Given the description of an element on the screen output the (x, y) to click on. 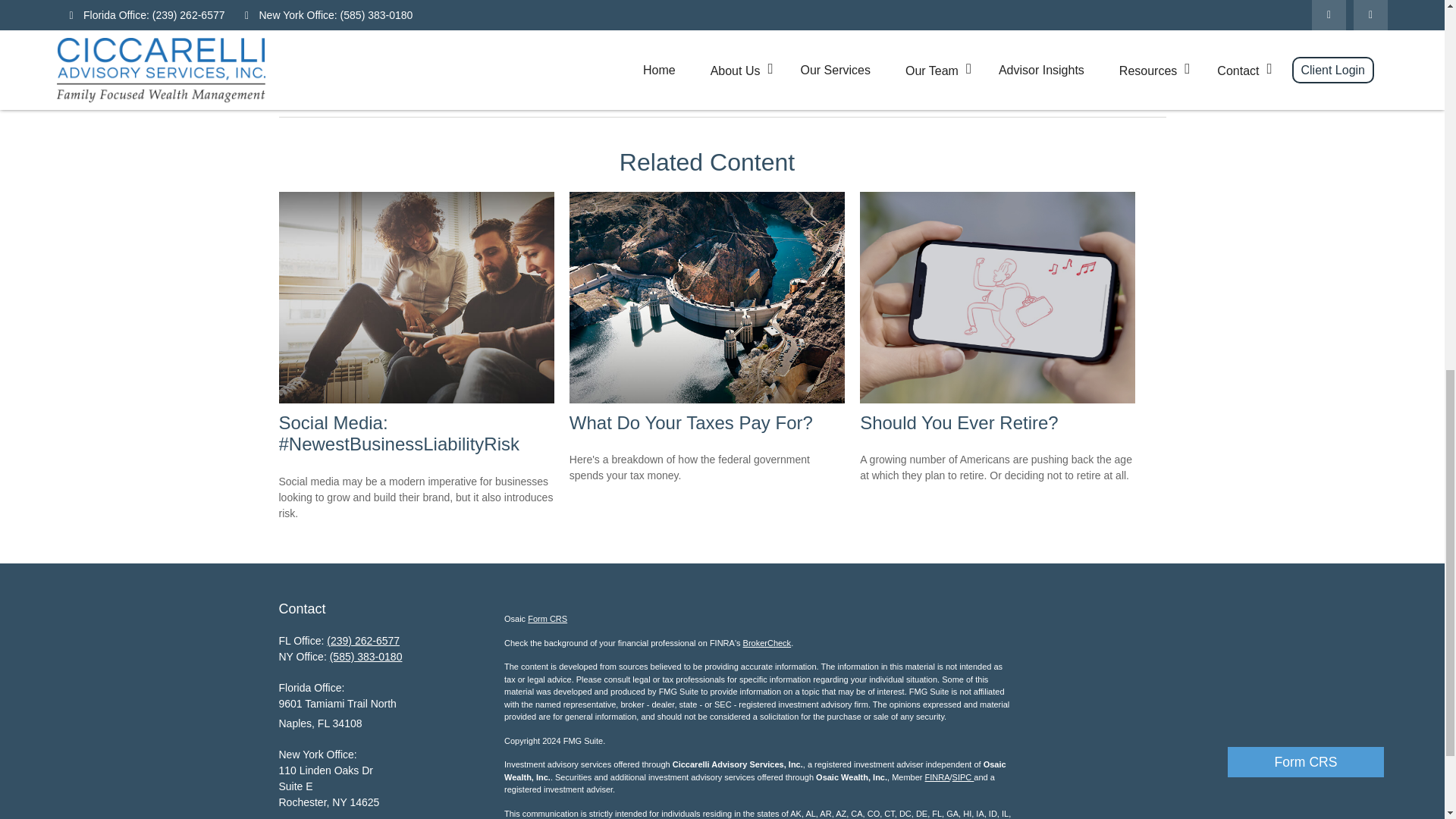
Form CRS (1305, 10)
Submit (317, 60)
Submit (317, 60)
What Do Your Taxes Pay For? (690, 422)
